Given the description of an element on the screen output the (x, y) to click on. 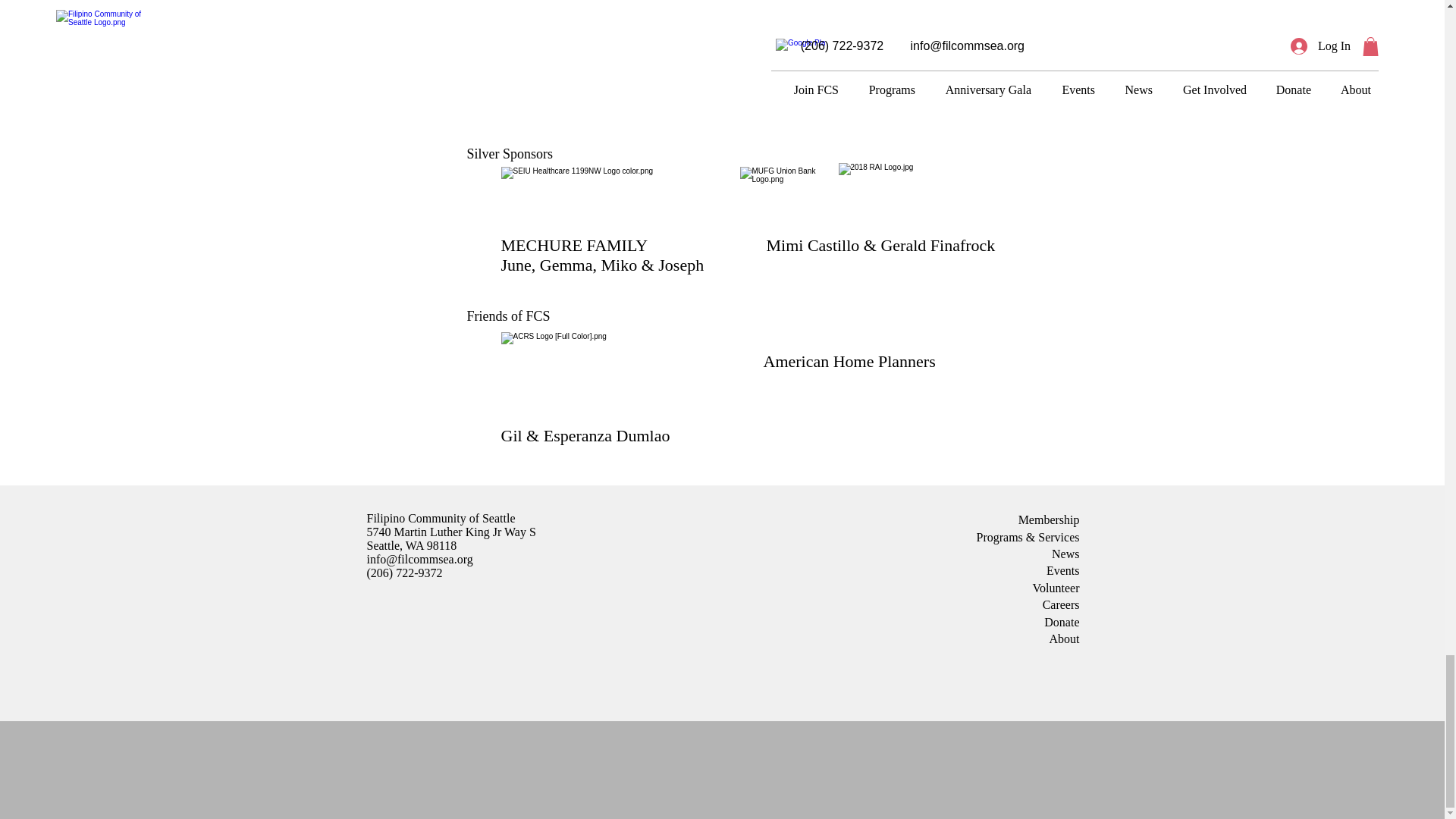
News (1064, 553)
Donate (1060, 621)
Careers (1061, 604)
Membership (1048, 519)
Events (1063, 570)
Volunteer (1056, 587)
About (1064, 638)
